Given the description of an element on the screen output the (x, y) to click on. 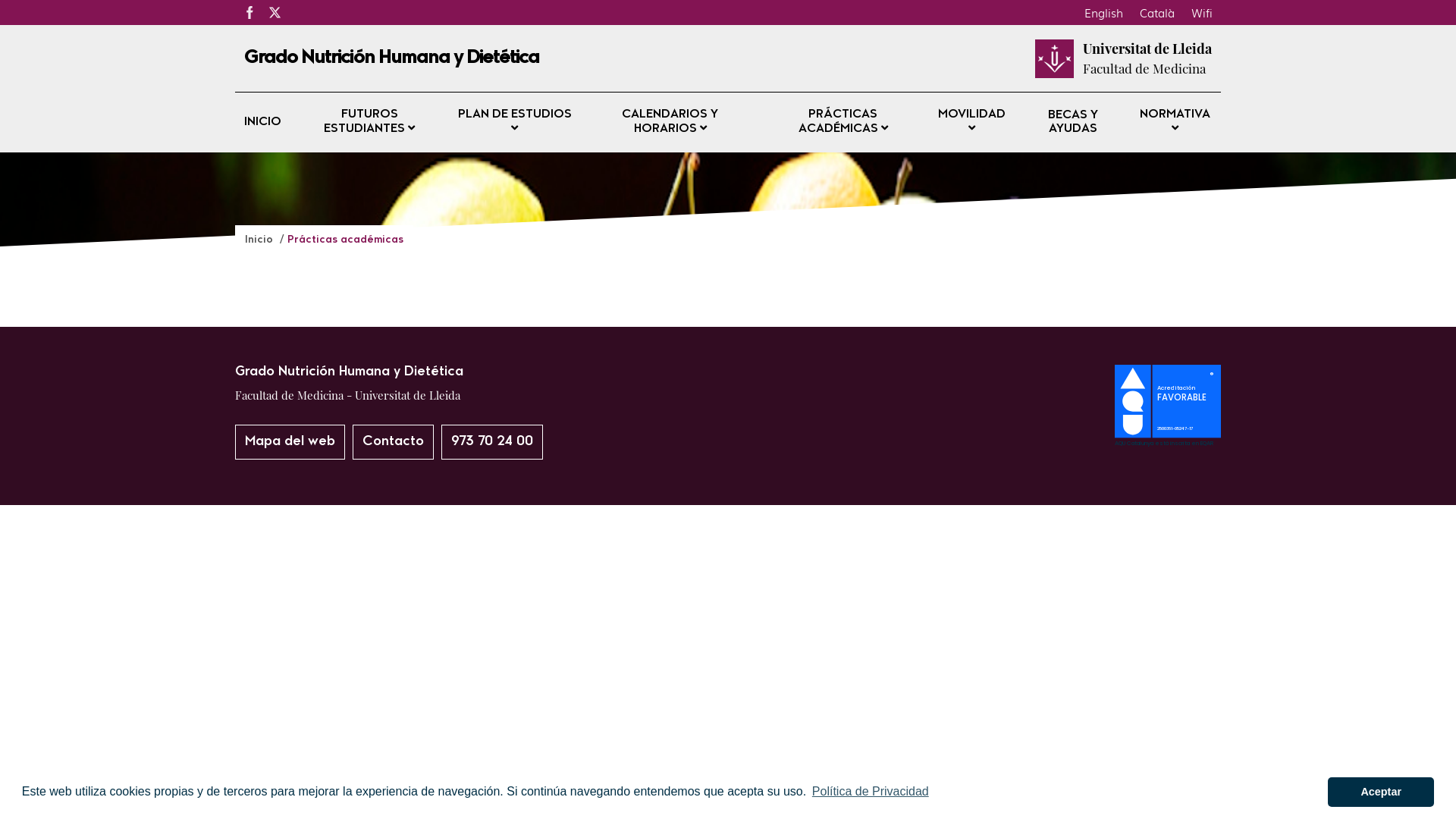
INICIO Element type: text (262, 122)
CALENDARIOS Y HORARIOS Element type: text (669, 122)
Universitat de Lleida
Facultad de Medicina Element type: text (1146, 58)
SegellAcreditacioAQU_GNHDietetica_es Element type: hover (1167, 441)
Inicio Element type: text (260, 239)
NORMATIVA Element type: text (1174, 122)
BECAS Y AYUDAS Element type: text (1072, 121)
Wifi Element type: text (1201, 12)
973 70 24 00 Element type: text (491, 441)
PLAN DE ESTUDIOS Element type: text (514, 122)
Aceptar Element type: text (1380, 791)
FUTUROS ESTUDIANTES Element type: text (369, 122)
Contacto Element type: text (392, 441)
Mapa del web Element type: text (290, 441)
English Element type: text (1103, 12)
MOVILIDAD Element type: text (971, 122)
